Given the description of an element on the screen output the (x, y) to click on. 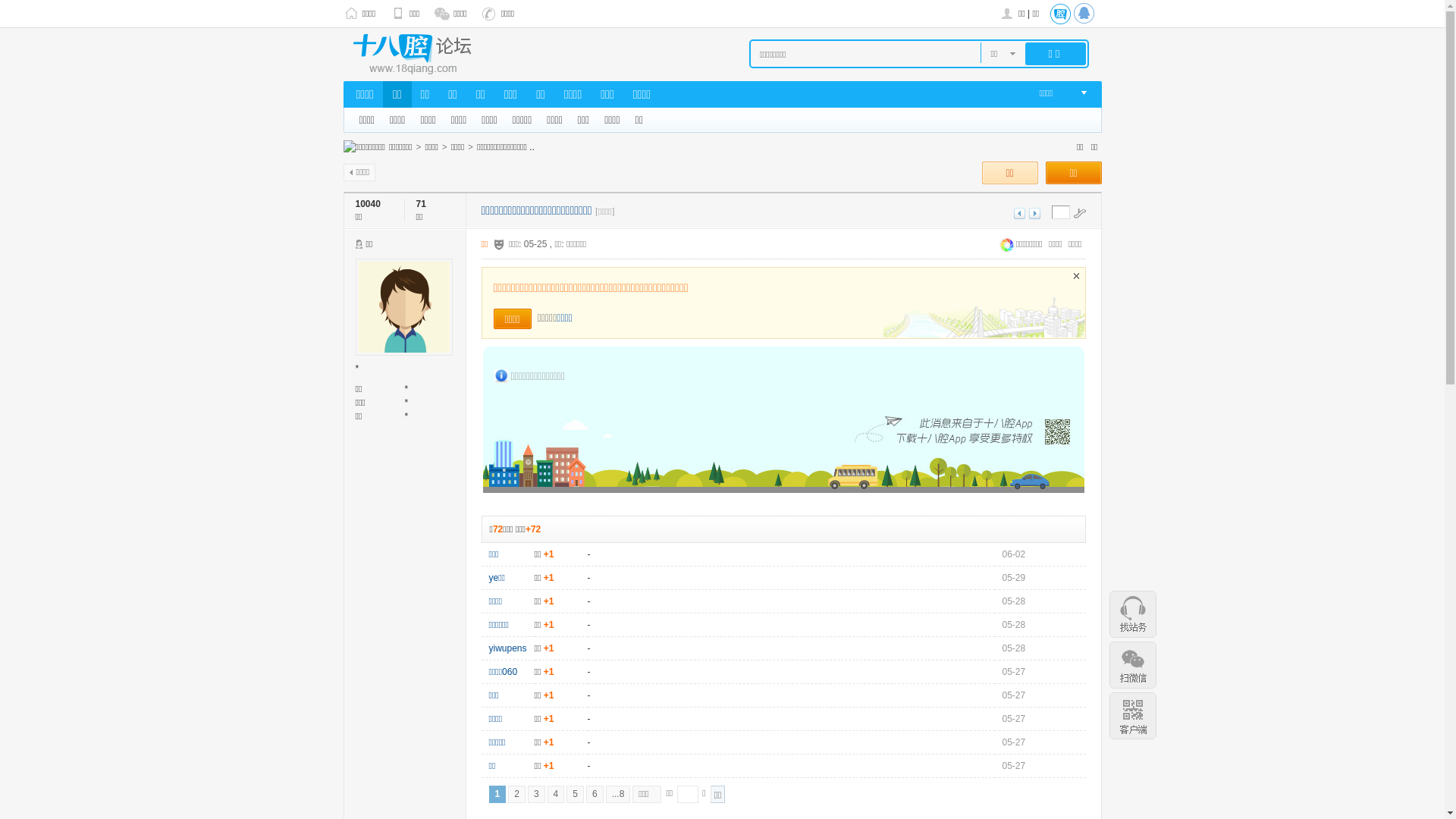
6 Element type: text (594, 794)
5 Element type: text (574, 794)
...8 Element type: text (617, 794)
4 Element type: text (555, 794)
3 Element type: text (536, 794)
  Element type: text (1085, 13)
2 Element type: text (516, 794)
yiwupens Element type: text (507, 648)
  Element type: text (1058, 13)
QQ Element type: hover (1085, 13)
* Element type: text (356, 368)
